Given the description of an element on the screen output the (x, y) to click on. 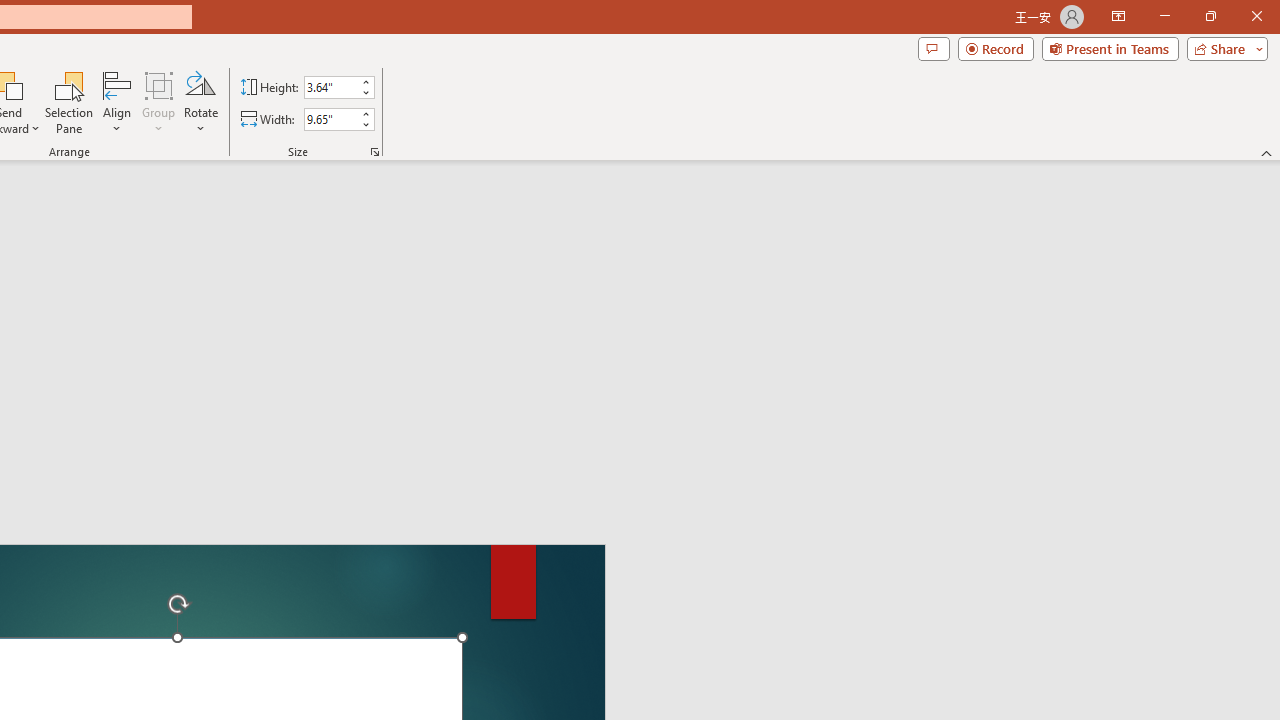
Rotate (200, 102)
Selection Pane... (69, 102)
